Given the description of an element on the screen output the (x, y) to click on. 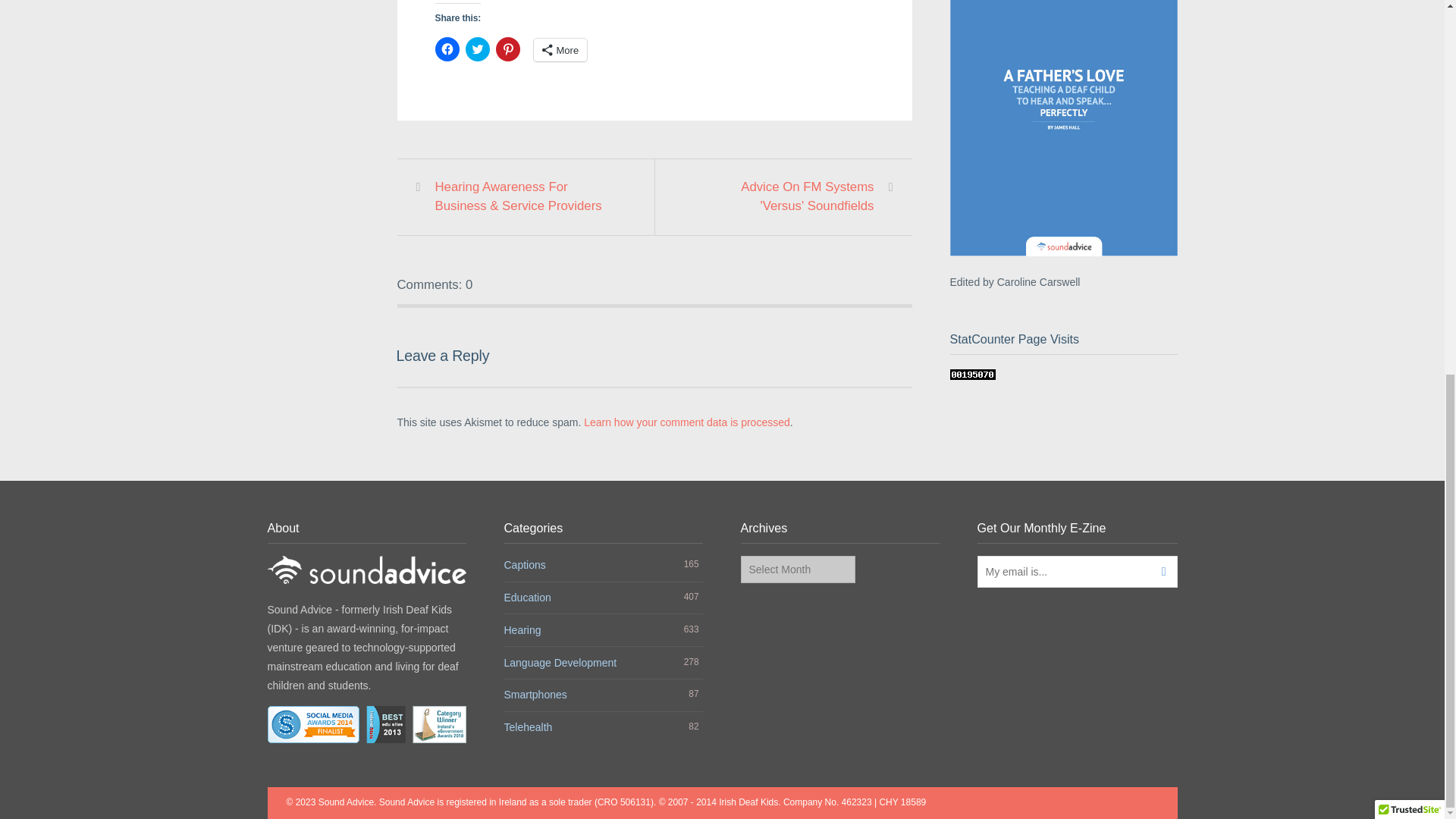
Click to share on Pinterest (507, 48)
Previous (523, 197)
Subscribe (1159, 571)
Click to share on Facebook (447, 48)
Click to share on Twitter (477, 48)
